Given the description of an element on the screen output the (x, y) to click on. 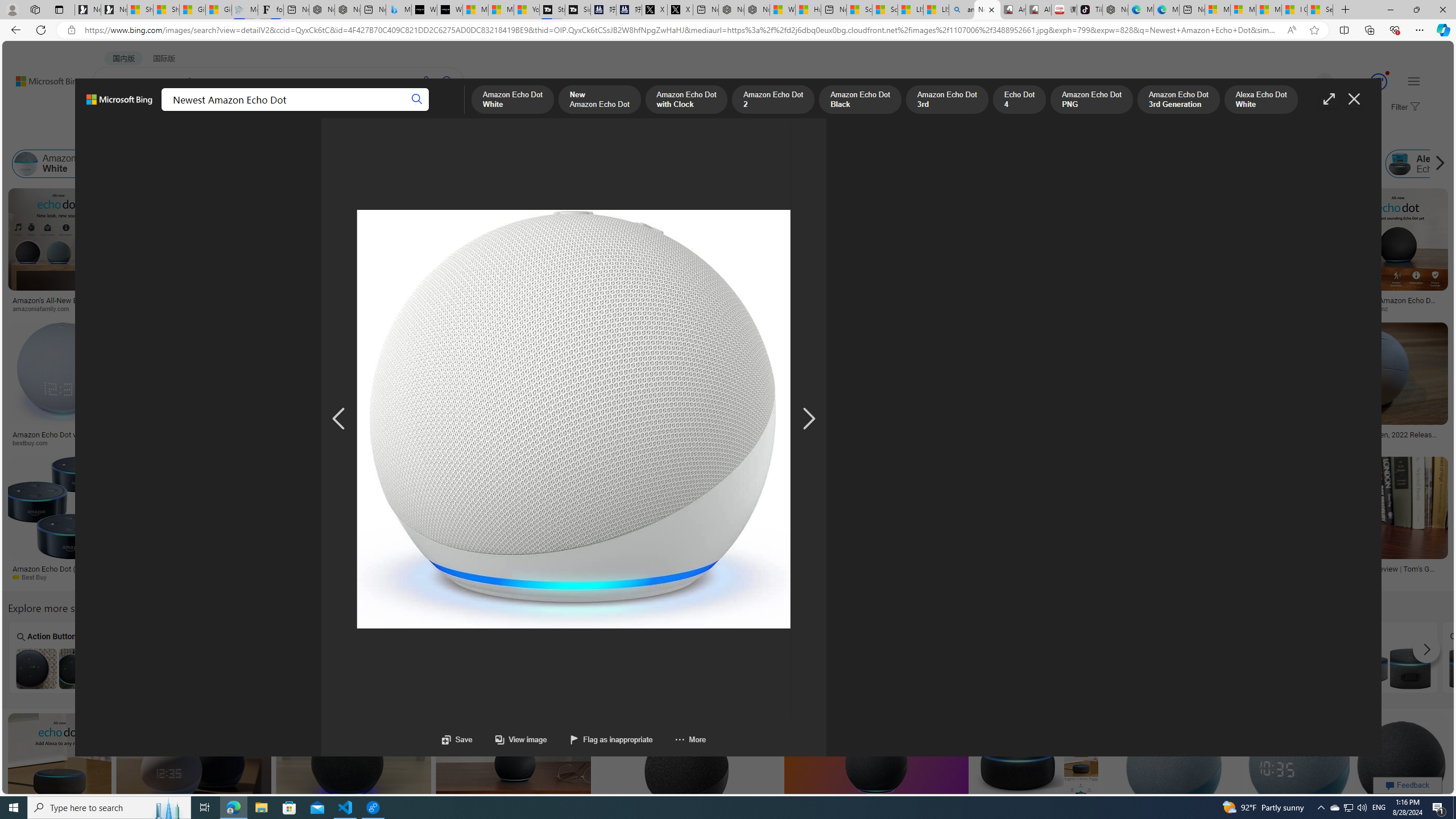
No Background (160, 656)
New Zeeland PC World (178, 576)
reviewcentralme.com (357, 308)
Amazon Echo Dot PNG (877, 163)
Amazon Echo Dot (2019) | TechRadar (686, 568)
ACADEMIC (311, 111)
Filter (1403, 107)
WEB (114, 111)
